Given the description of an element on the screen output the (x, y) to click on. 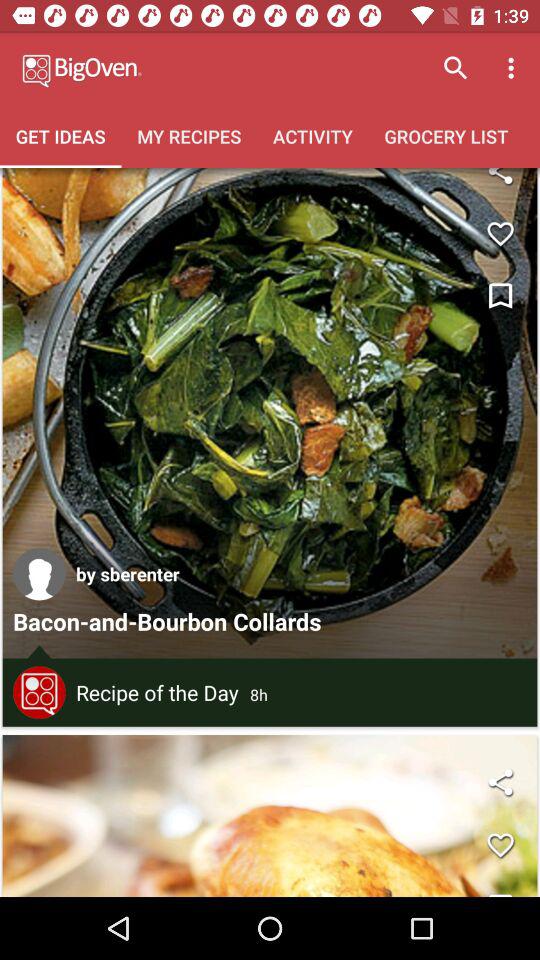
open post (269, 413)
